Given the description of an element on the screen output the (x, y) to click on. 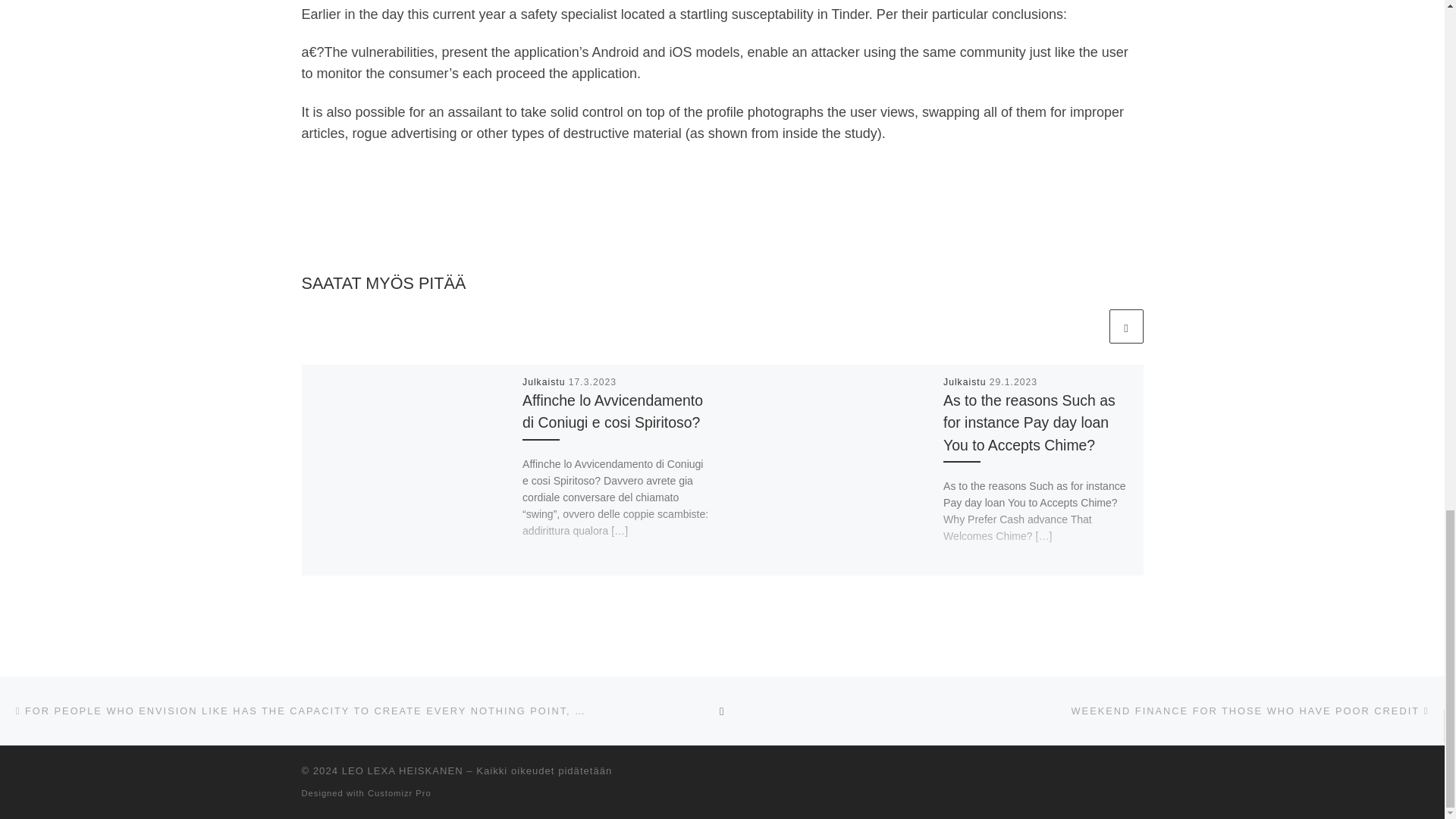
29.1.2023 (1013, 381)
17.3.2023 (592, 381)
Affinche lo Avvicendamento di Coniugi e cosi Spiritoso? (612, 411)
